Given the description of an element on the screen output the (x, y) to click on. 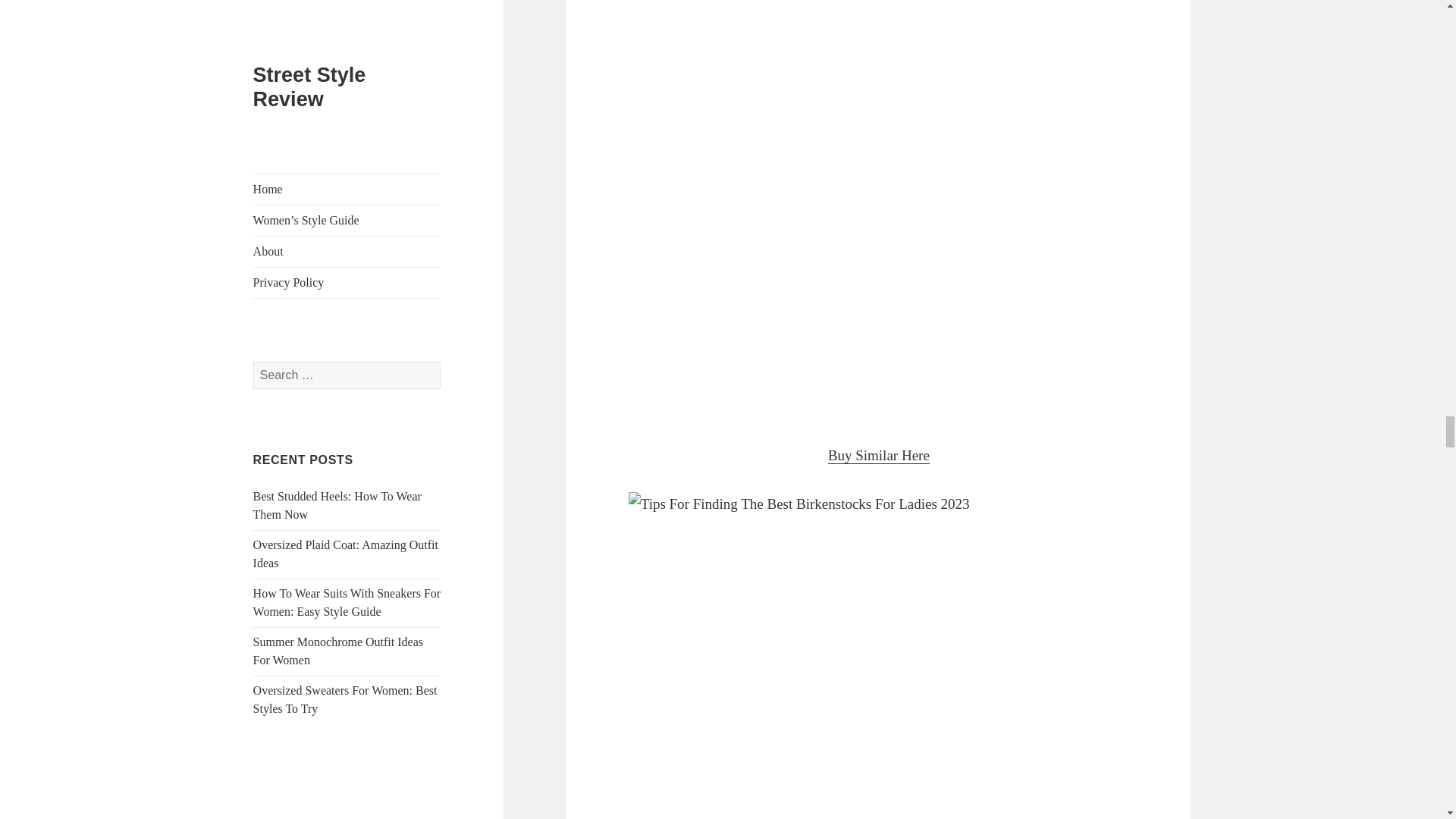
Buy Similar Here (879, 455)
